Given the description of an element on the screen output the (x, y) to click on. 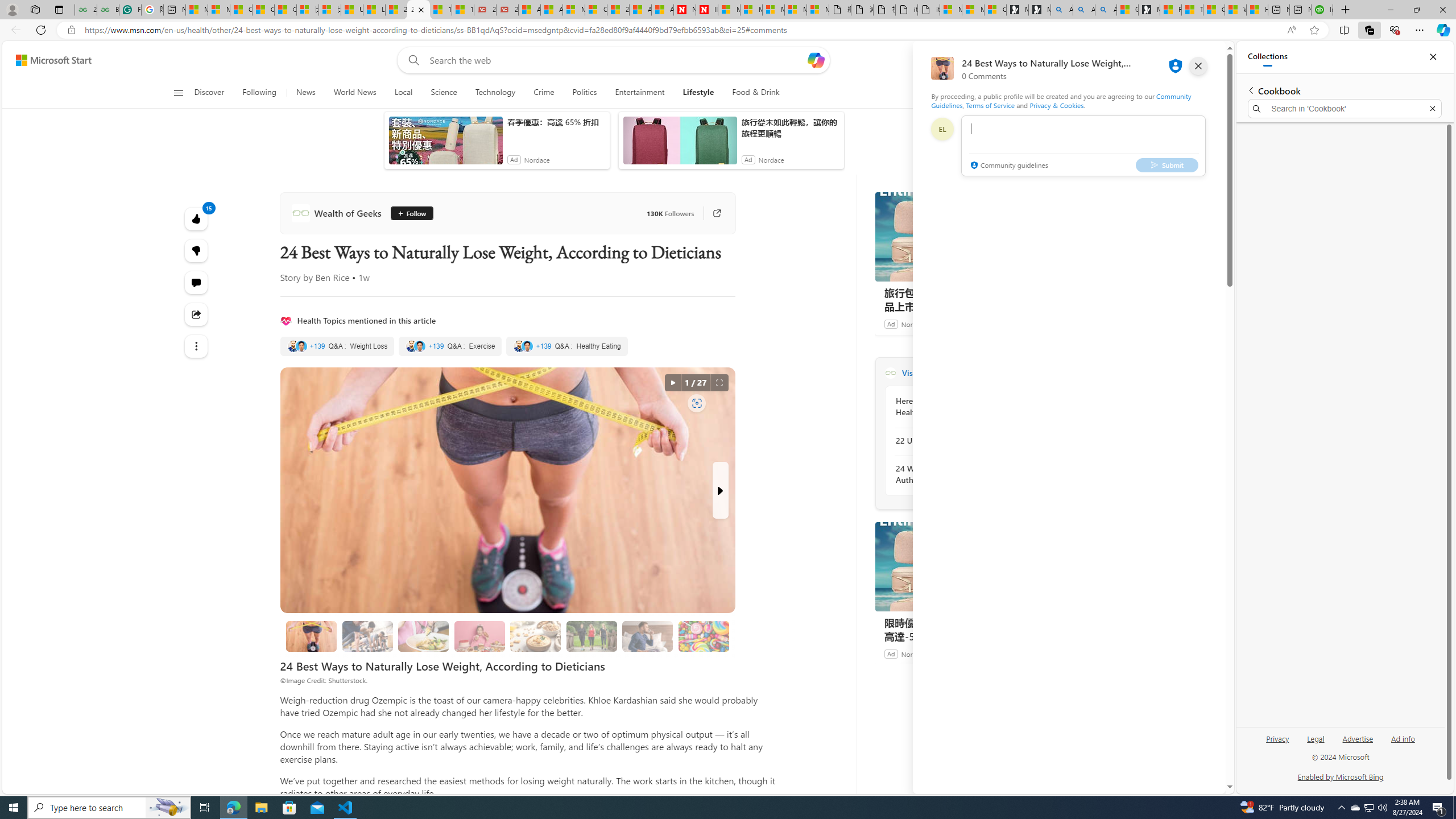
Best SSL Certificates Provider in India - GeeksforGeeks (107, 9)
anim-content (679, 144)
Illness news & latest pictures from Newsweek.com (706, 9)
